Given the description of an element on the screen output the (x, y) to click on. 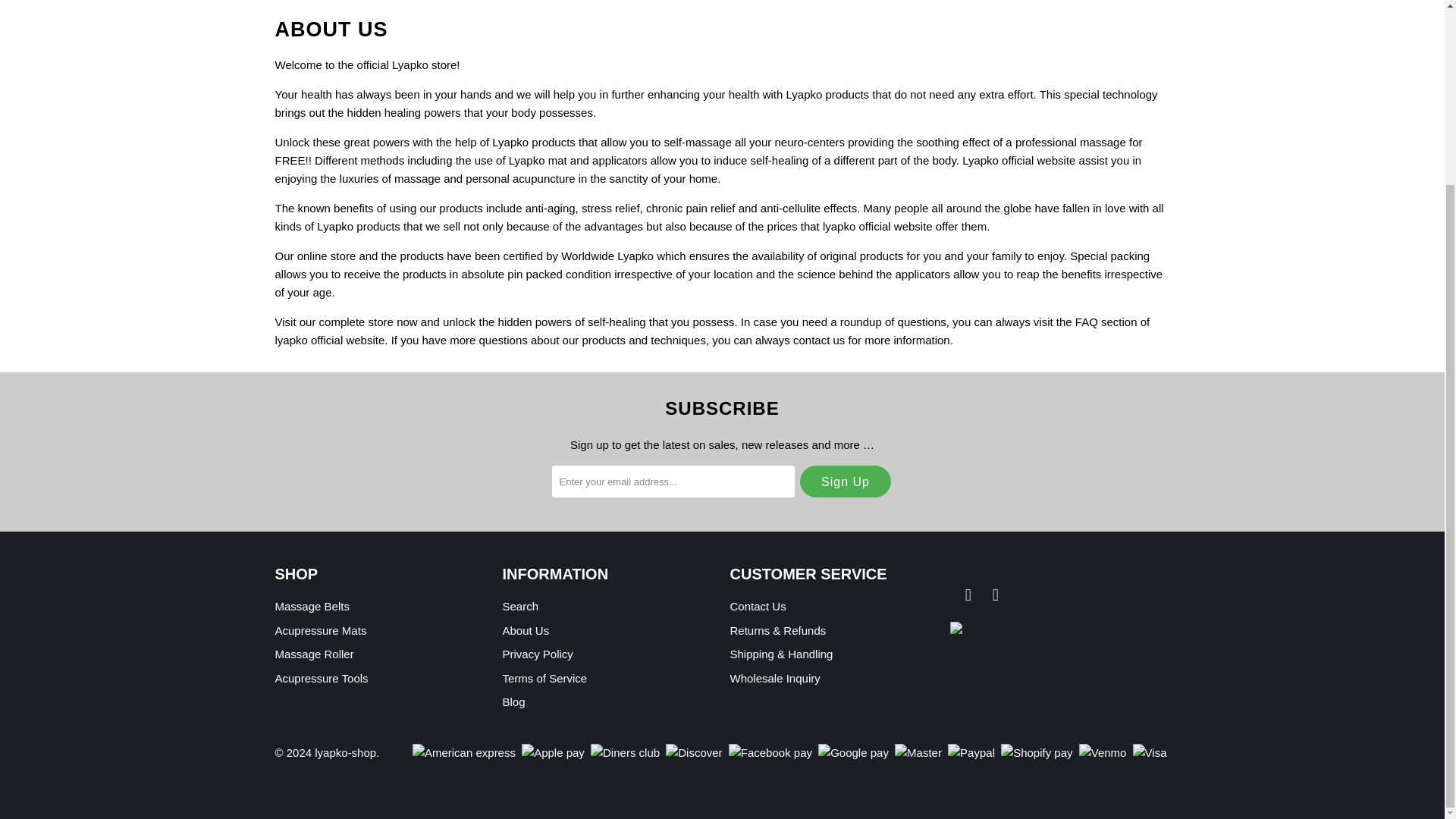
lyapko-shop on Instagram (995, 595)
lyapko-shop on Facebook (967, 595)
Sign Up (845, 481)
